Given the description of an element on the screen output the (x, y) to click on. 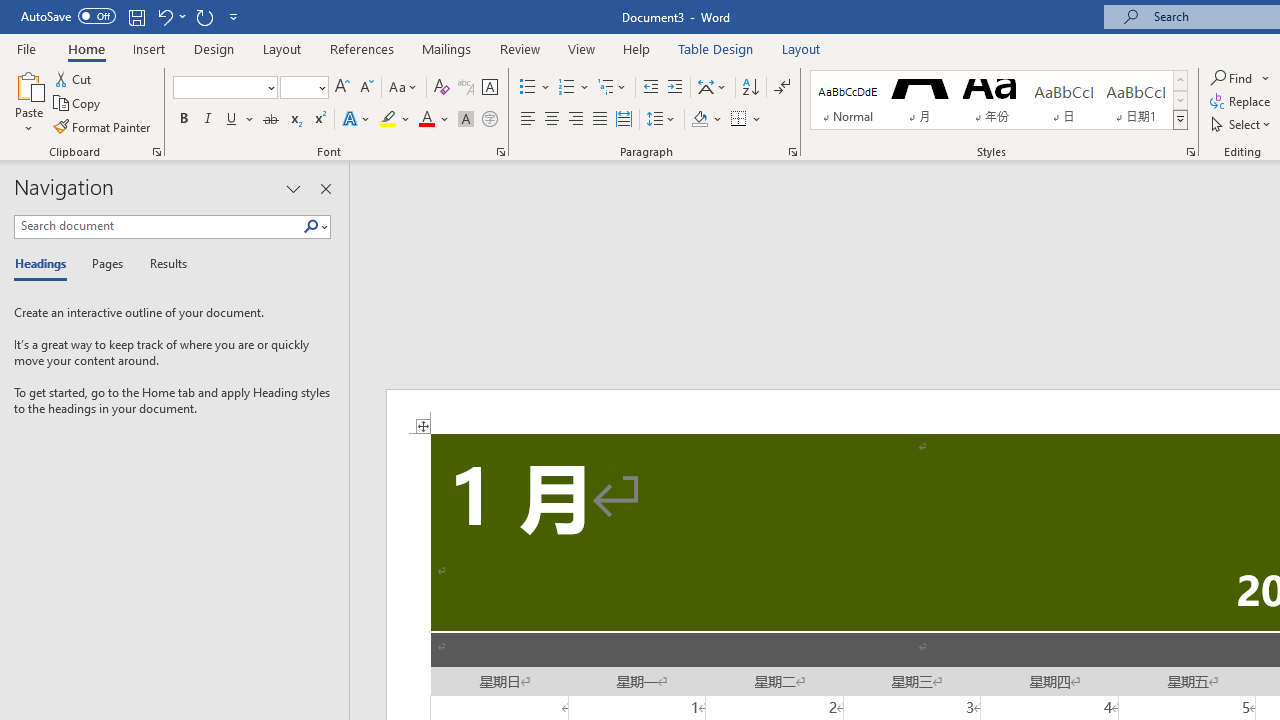
Undo Grow Font (164, 15)
